Given the description of an element on the screen output the (x, y) to click on. 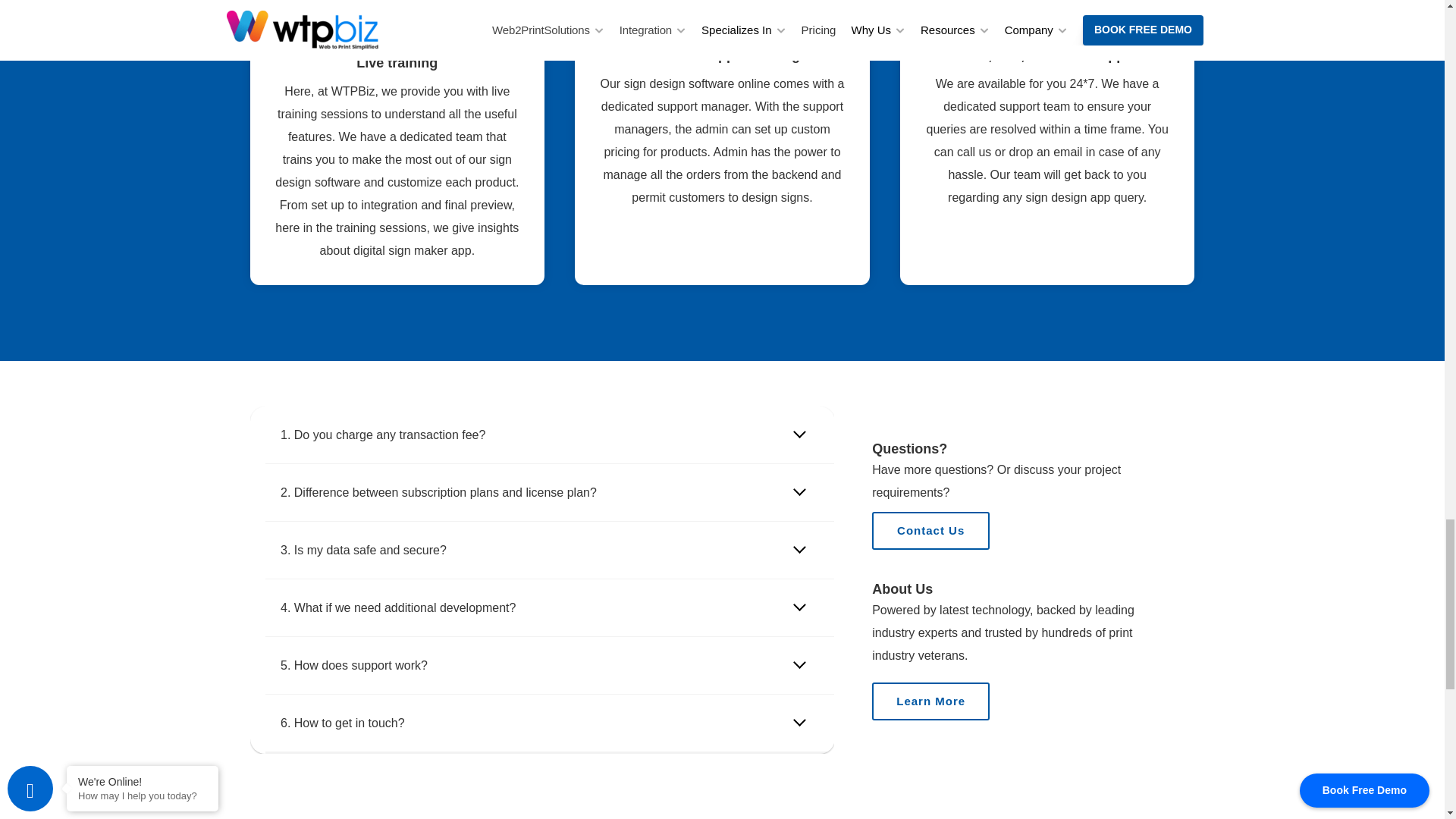
Contact Us (931, 530)
Learn More (931, 701)
